Given the description of an element on the screen output the (x, y) to click on. 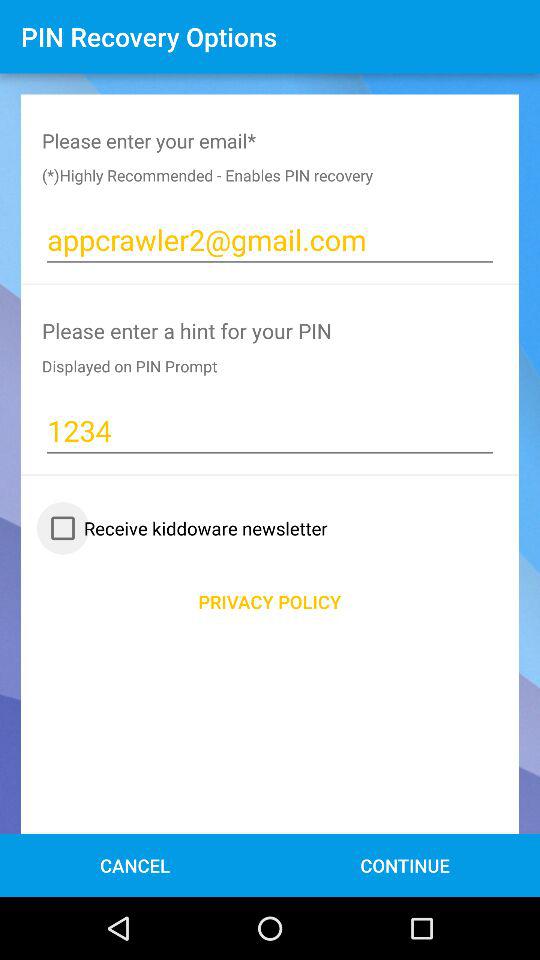
tap the appcrawler2@gmail.com (269, 240)
